Given the description of an element on the screen output the (x, y) to click on. 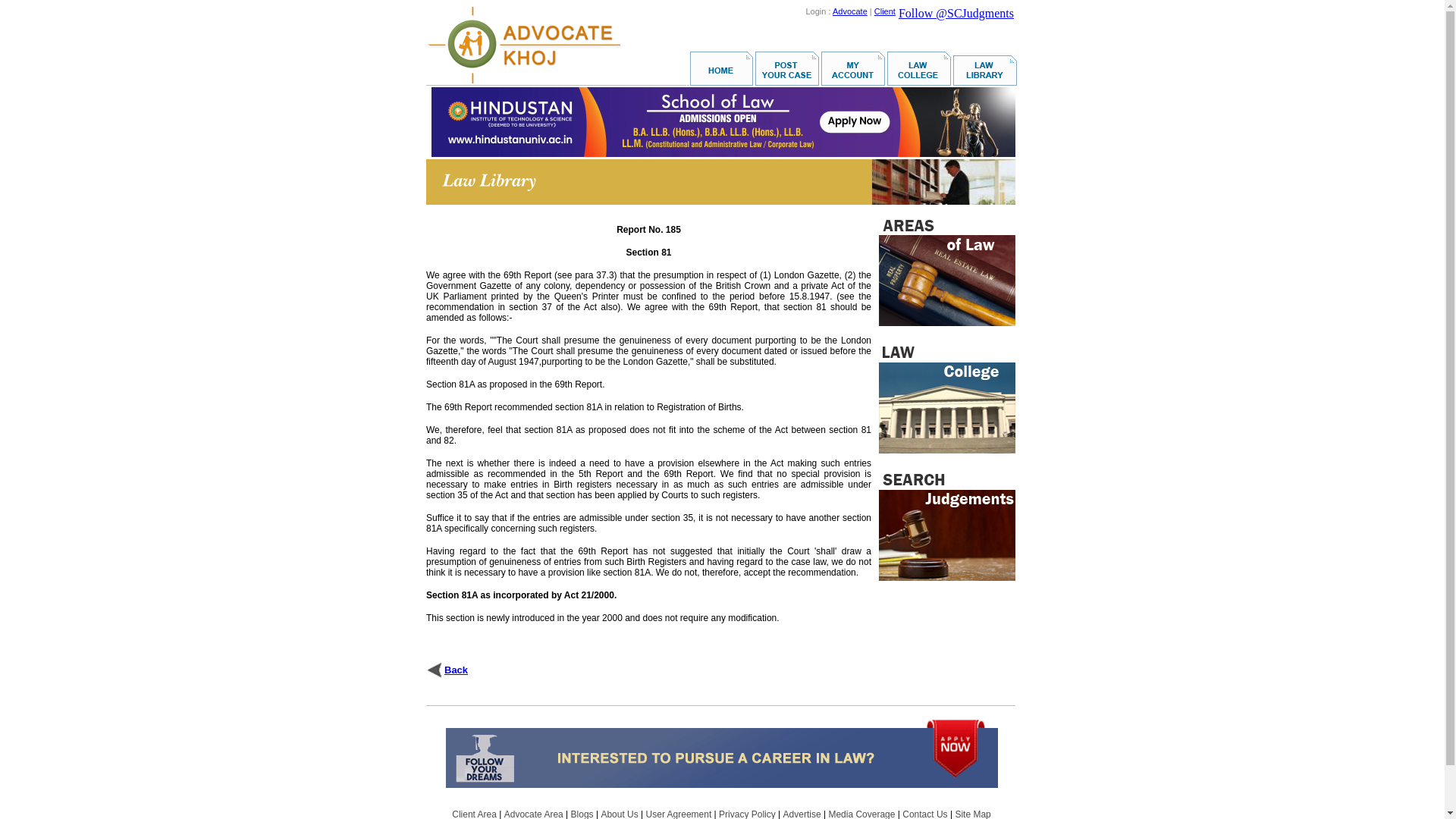
Review of the Indian Evidence Act, 1872 (455, 669)
Back (455, 669)
Blogs (582, 814)
Privacy Policy (747, 814)
User Agreement (678, 814)
Client Area (473, 814)
Contact Us (924, 814)
About Us (618, 814)
Site Map (972, 814)
Advocate (849, 10)
Client (885, 10)
Advertise (802, 814)
Advocate Area (533, 814)
Media Coverage (861, 814)
Review of the Indian Evidence Act, 1872 (433, 668)
